Given the description of an element on the screen output the (x, y) to click on. 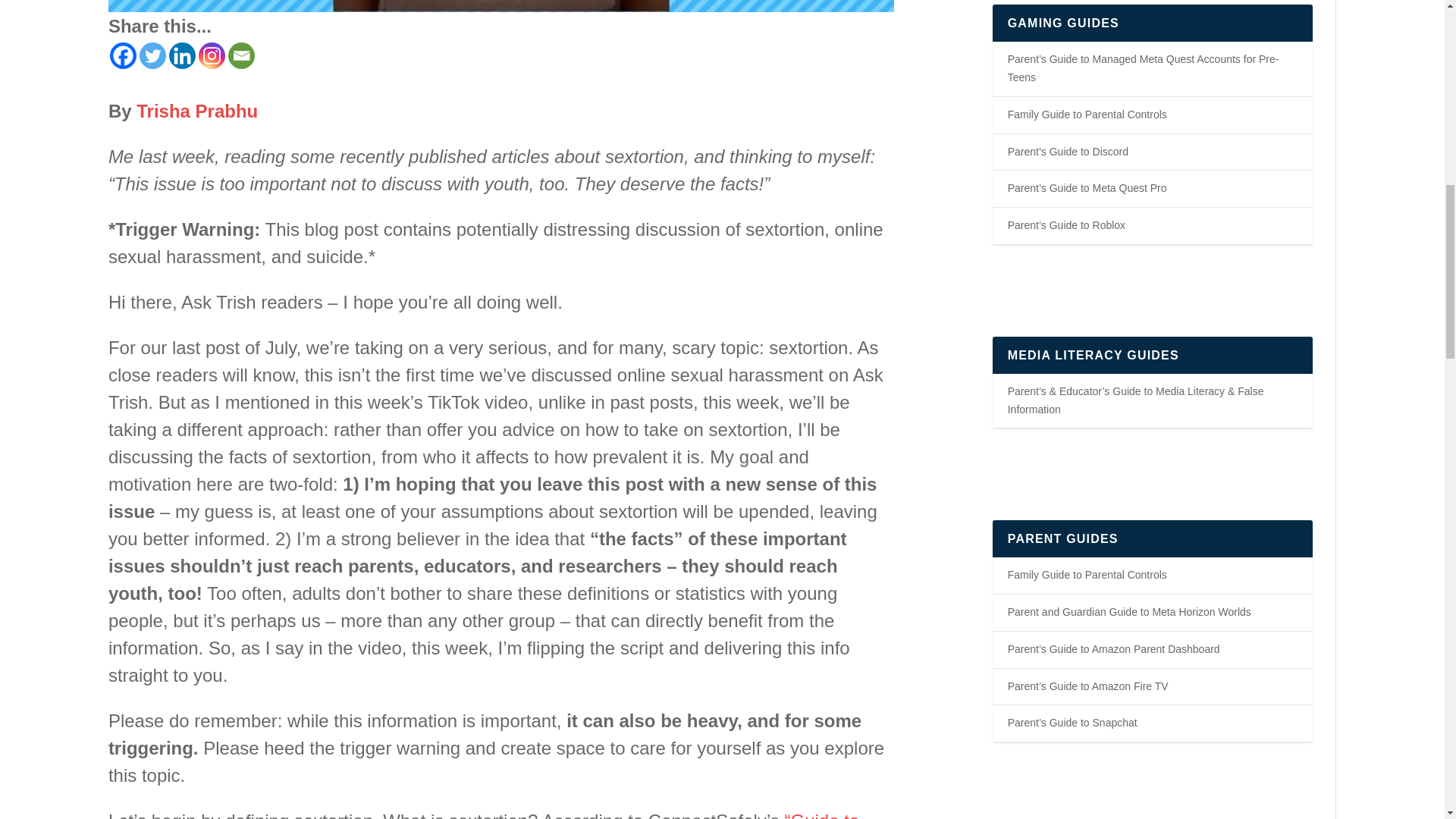
Ask Trish Blue 7.26 (500, 6)
Twitter (152, 55)
Facebook (123, 55)
Email (241, 55)
Instagram (211, 55)
Linkedin (181, 55)
